Given the description of an element on the screen output the (x, y) to click on. 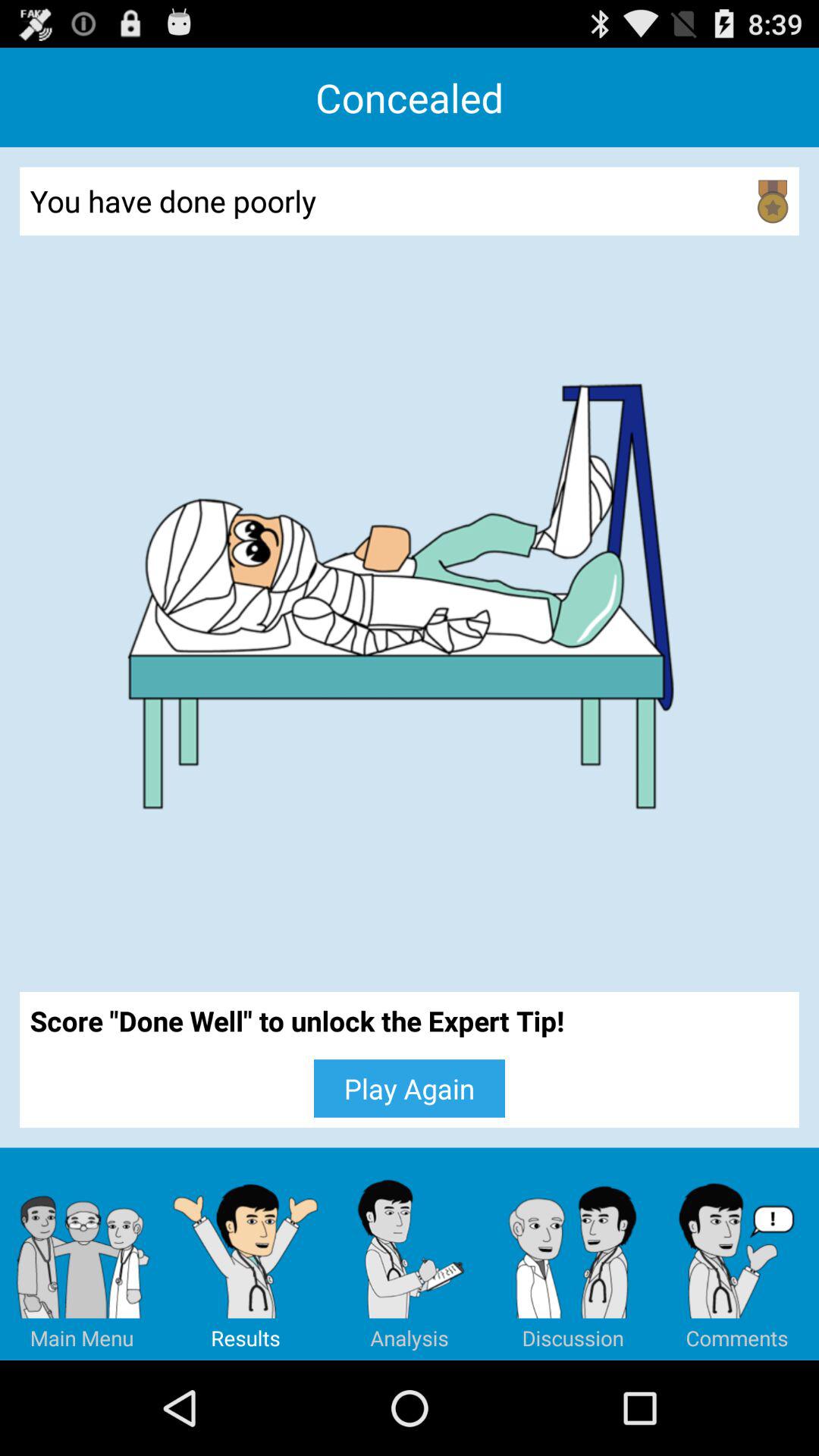
tap the icon below play again icon (573, 1253)
